Given the description of an element on the screen output the (x, y) to click on. 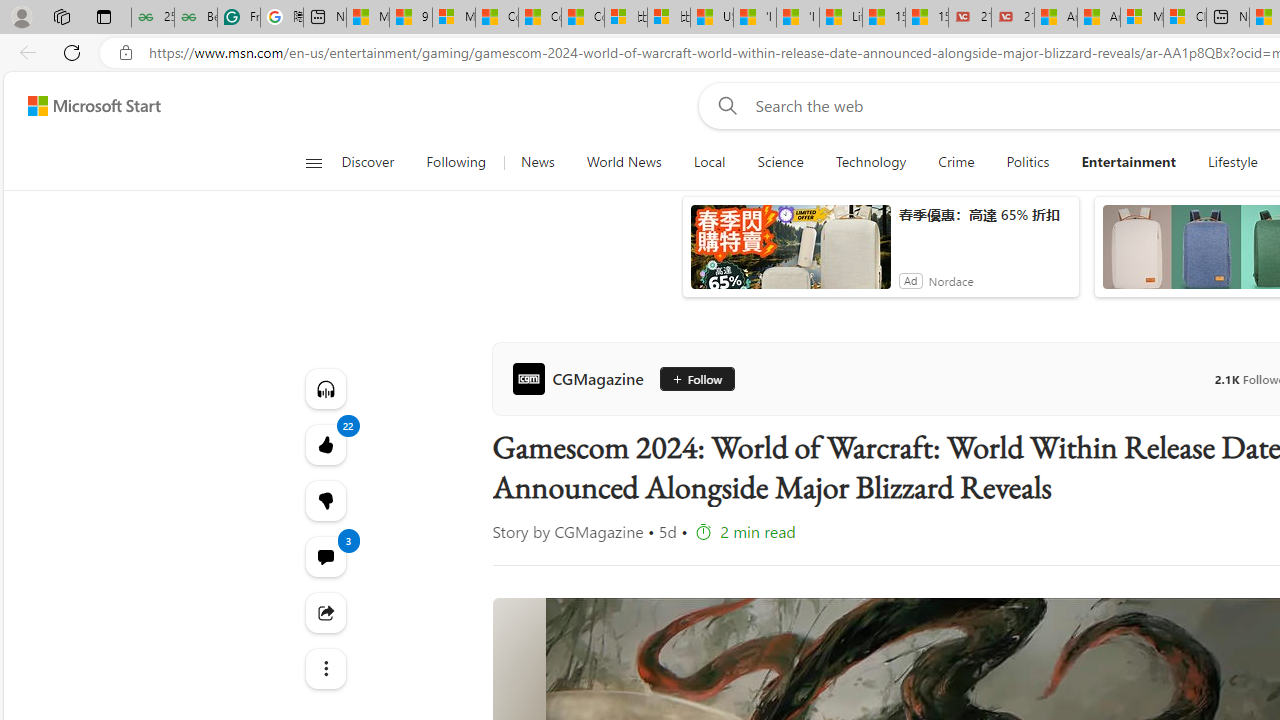
22 Like (324, 444)
21 Movies That Outdid the Books They Were Based On (1013, 17)
